Given the description of an element on the screen output the (x, y) to click on. 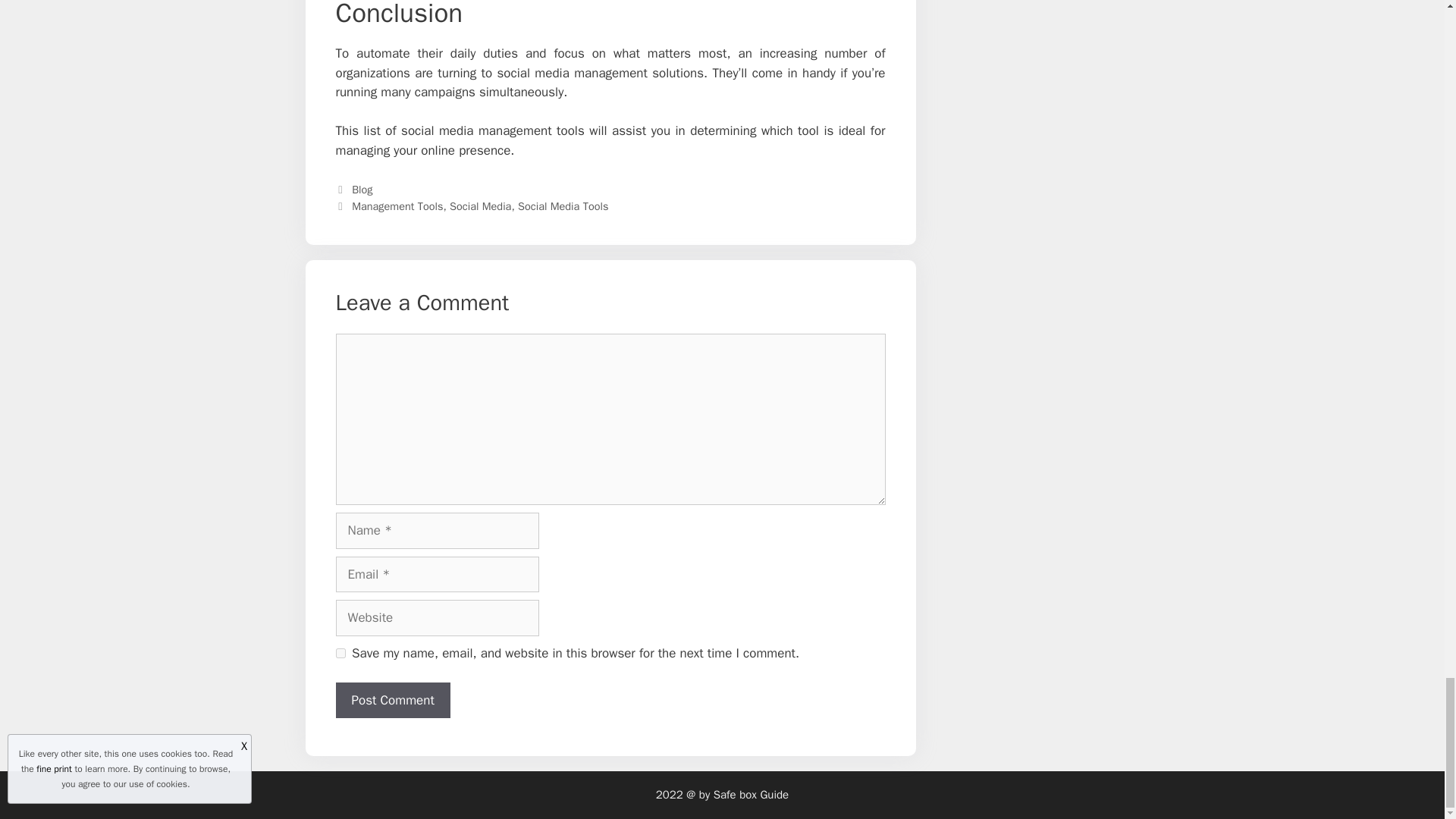
Blog (362, 189)
Post Comment (391, 700)
Post Comment (391, 700)
Social Media (480, 205)
Management Tools (397, 205)
Social Media Tools (563, 205)
yes (339, 653)
